Given the description of an element on the screen output the (x, y) to click on. 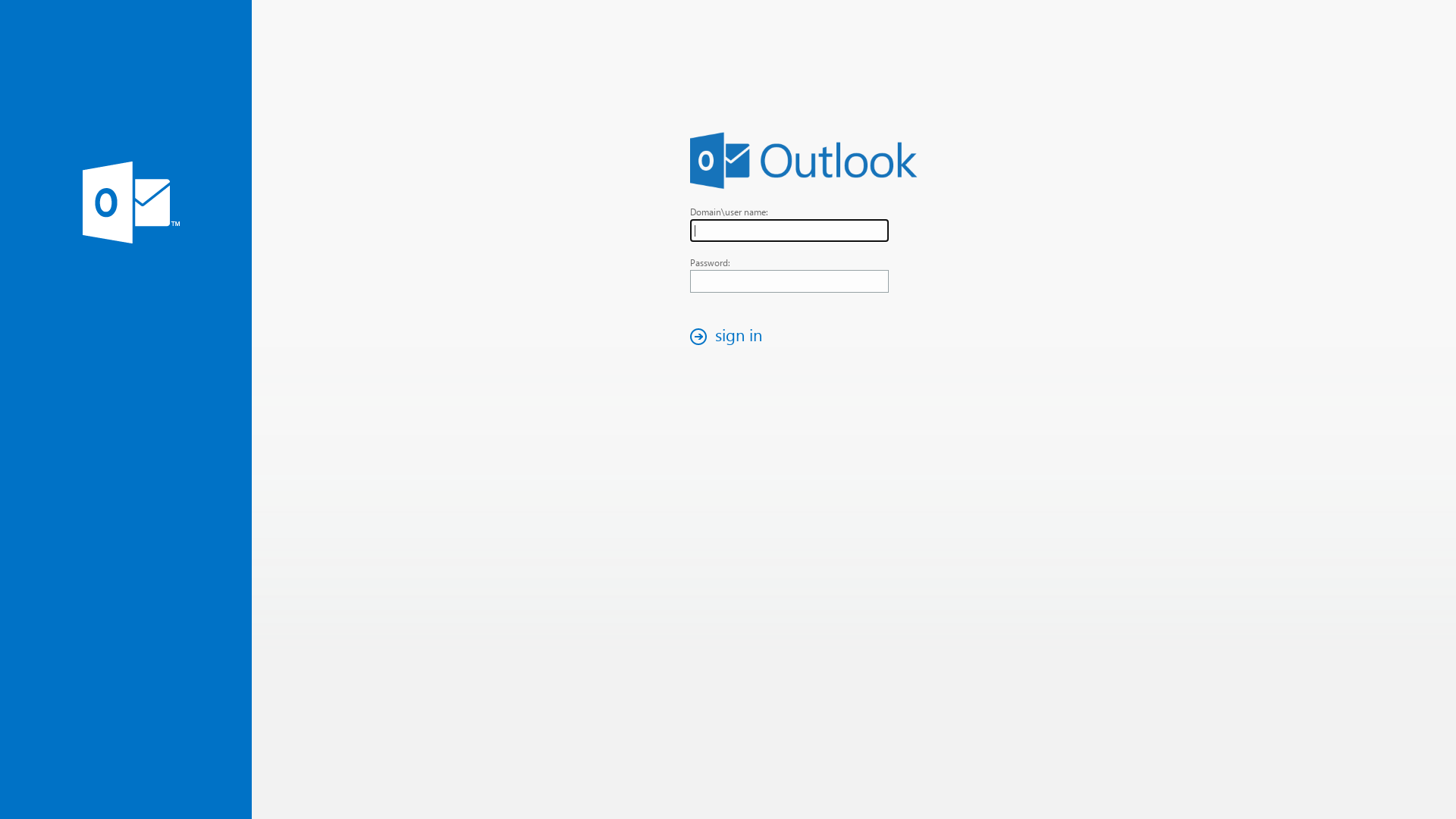
sign in Element type: text (730, 336)
